Given the description of an element on the screen output the (x, y) to click on. 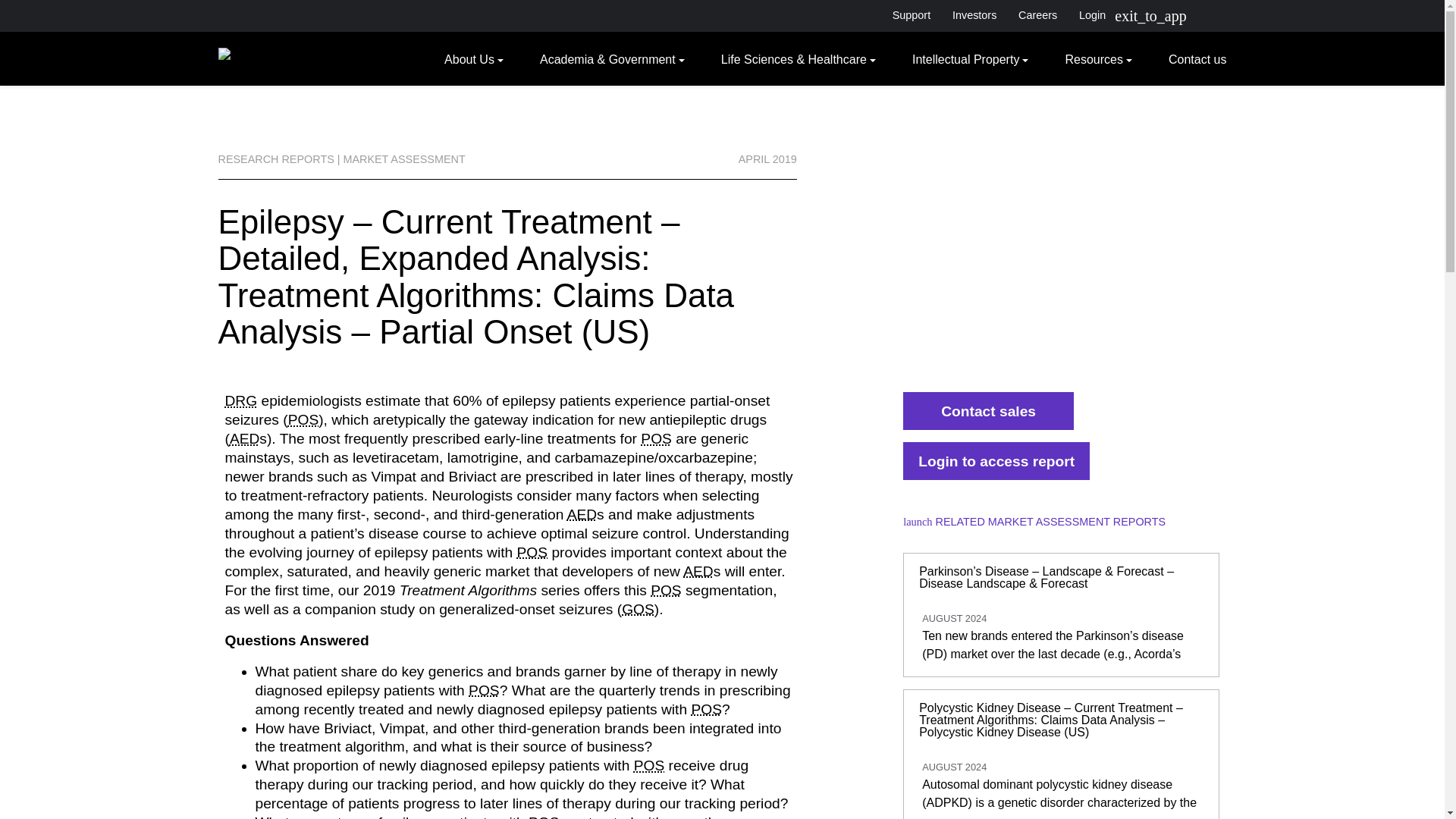
Careers (1037, 15)
Investors (974, 15)
Support (910, 15)
About Us (473, 58)
